Given the description of an element on the screen output the (x, y) to click on. 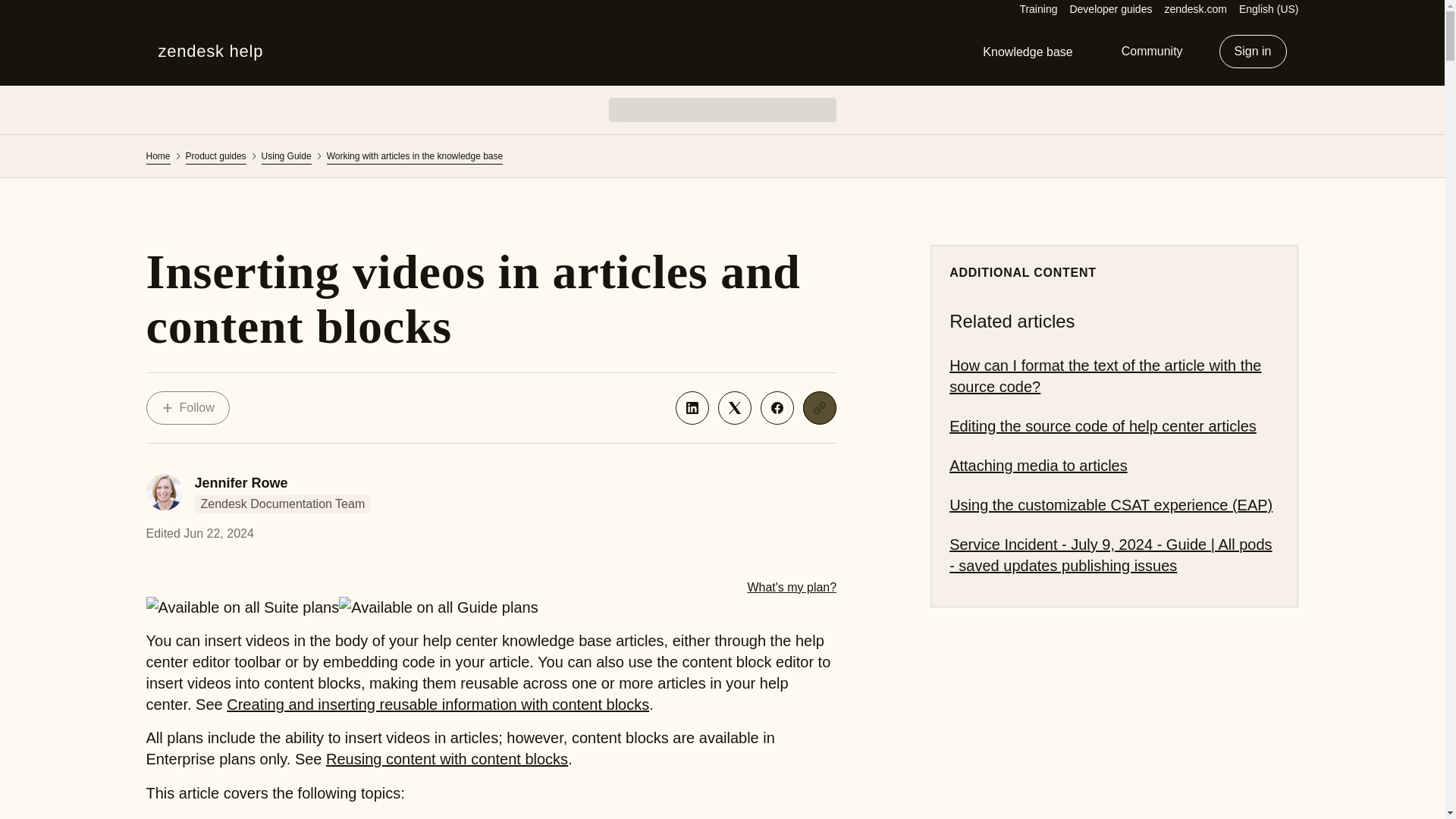
Reusing content with content blocks (446, 759)
What's my plan? (790, 586)
Sign in (1253, 51)
Home (157, 155)
zendesk.com (1194, 9)
Developer guides (1109, 9)
Working with articles in the knowledge base (414, 155)
Jennifer Rowe (239, 482)
Training (1038, 9)
Product guides (216, 155)
